Given the description of an element on the screen output the (x, y) to click on. 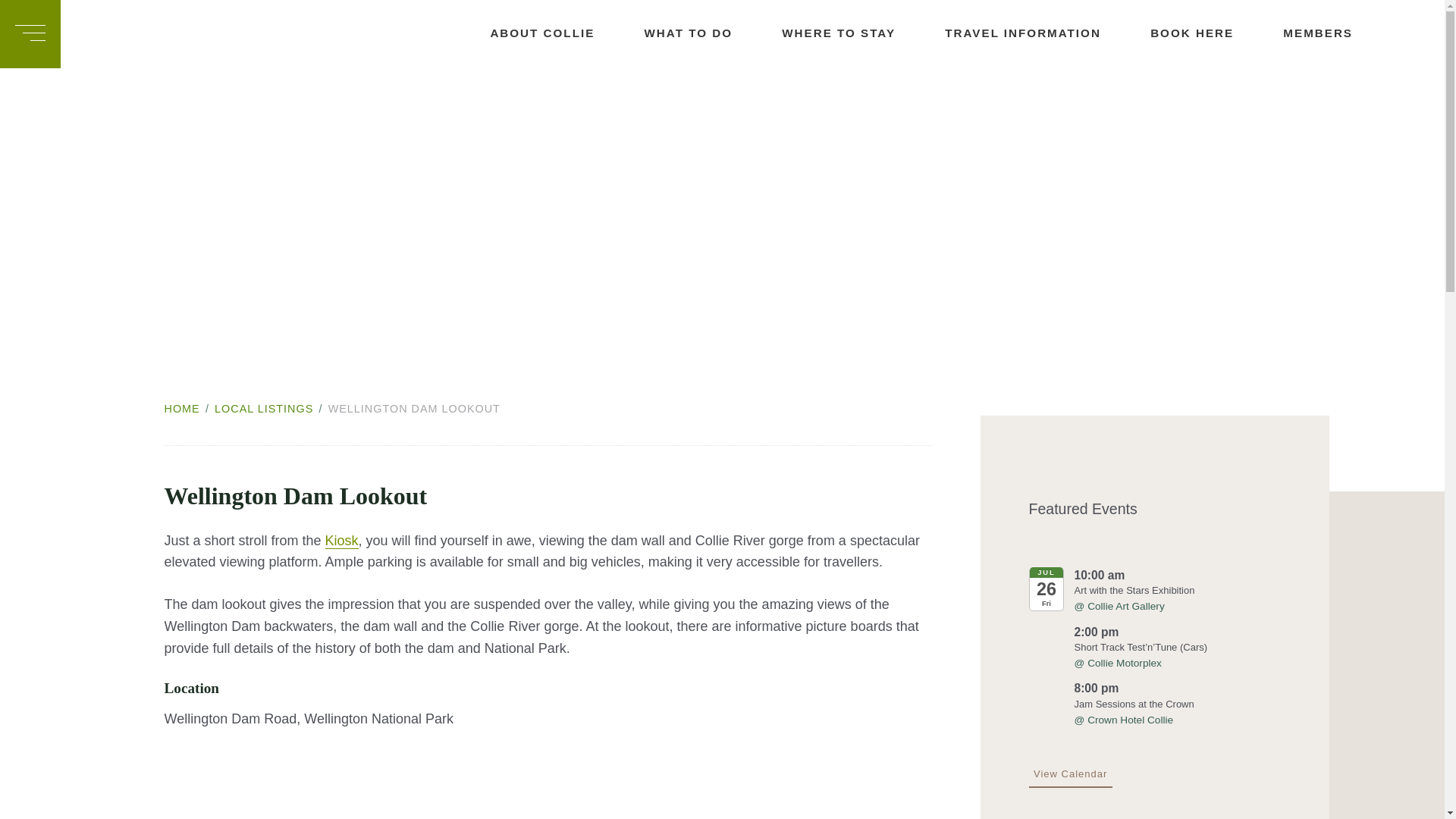
TRAVEL INFORMATION (999, 33)
Collie River Valley (170, 33)
BOOK HERE (1168, 33)
WHERE TO STAY (815, 33)
MEMBERS (1294, 33)
ABOUT COLLIE (519, 33)
Collie River Valley (170, 33)
WHAT TO DO (665, 33)
